Given the description of an element on the screen output the (x, y) to click on. 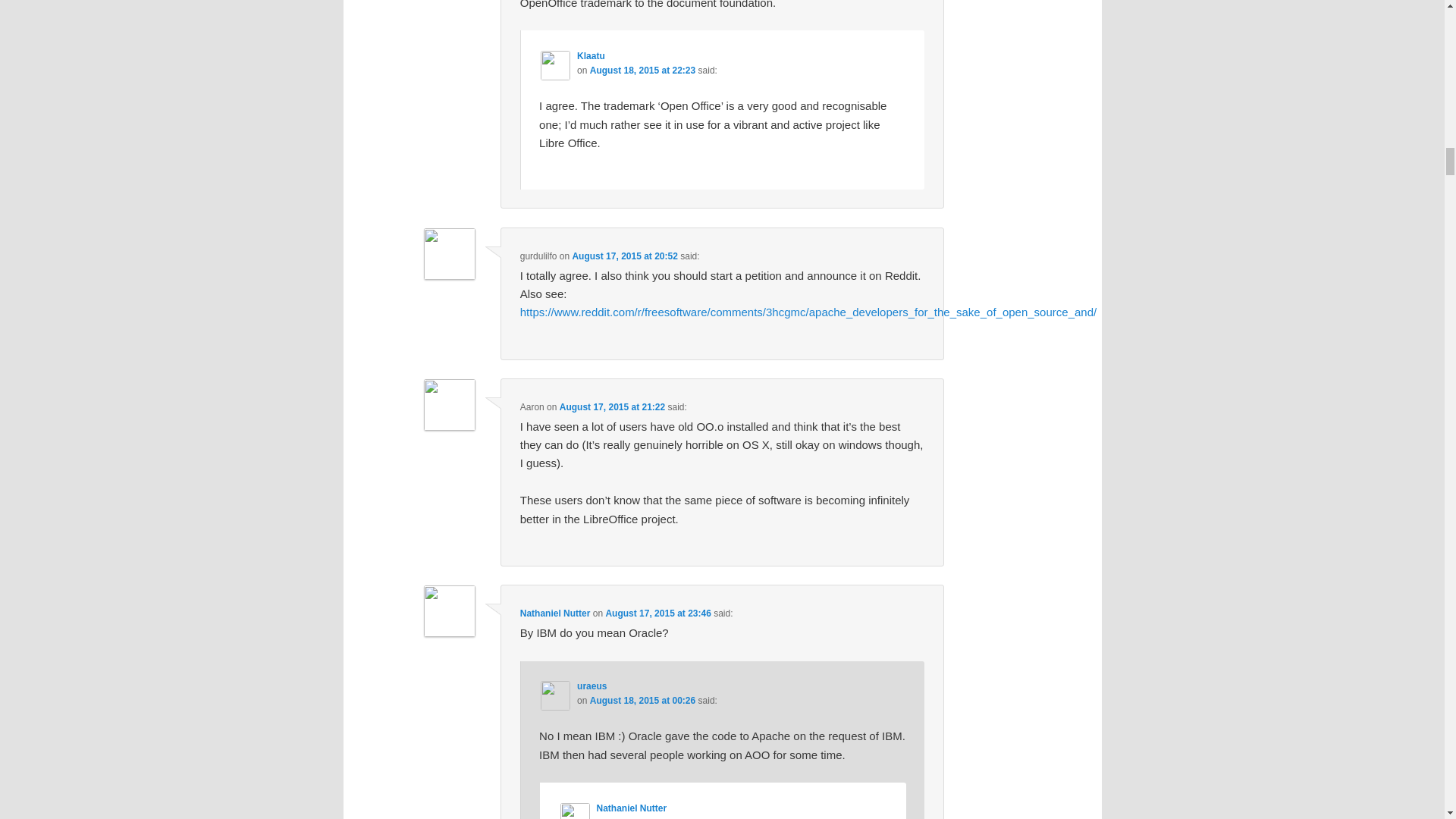
Klaatu (590, 55)
August 18, 2015 at 22:23 (642, 70)
August 17, 2015 at 23:46 (657, 613)
August 17, 2015 at 21:22 (612, 407)
Nathaniel Nutter (555, 613)
August 17, 2015 at 20:52 (624, 255)
